Given the description of an element on the screen output the (x, y) to click on. 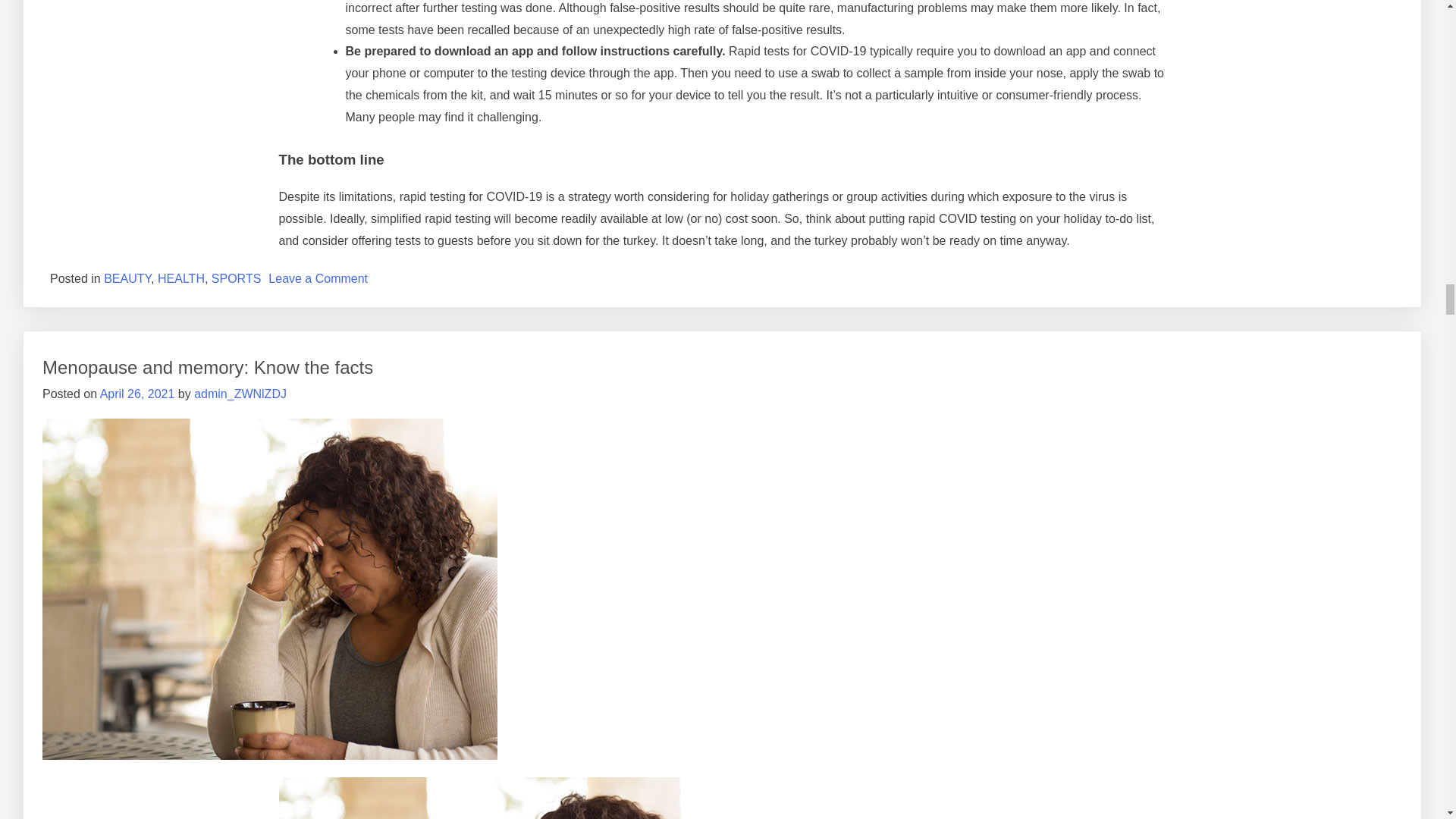
SPORTS (236, 278)
HEALTH (181, 278)
BEAUTY (127, 278)
